Given the description of an element on the screen output the (x, y) to click on. 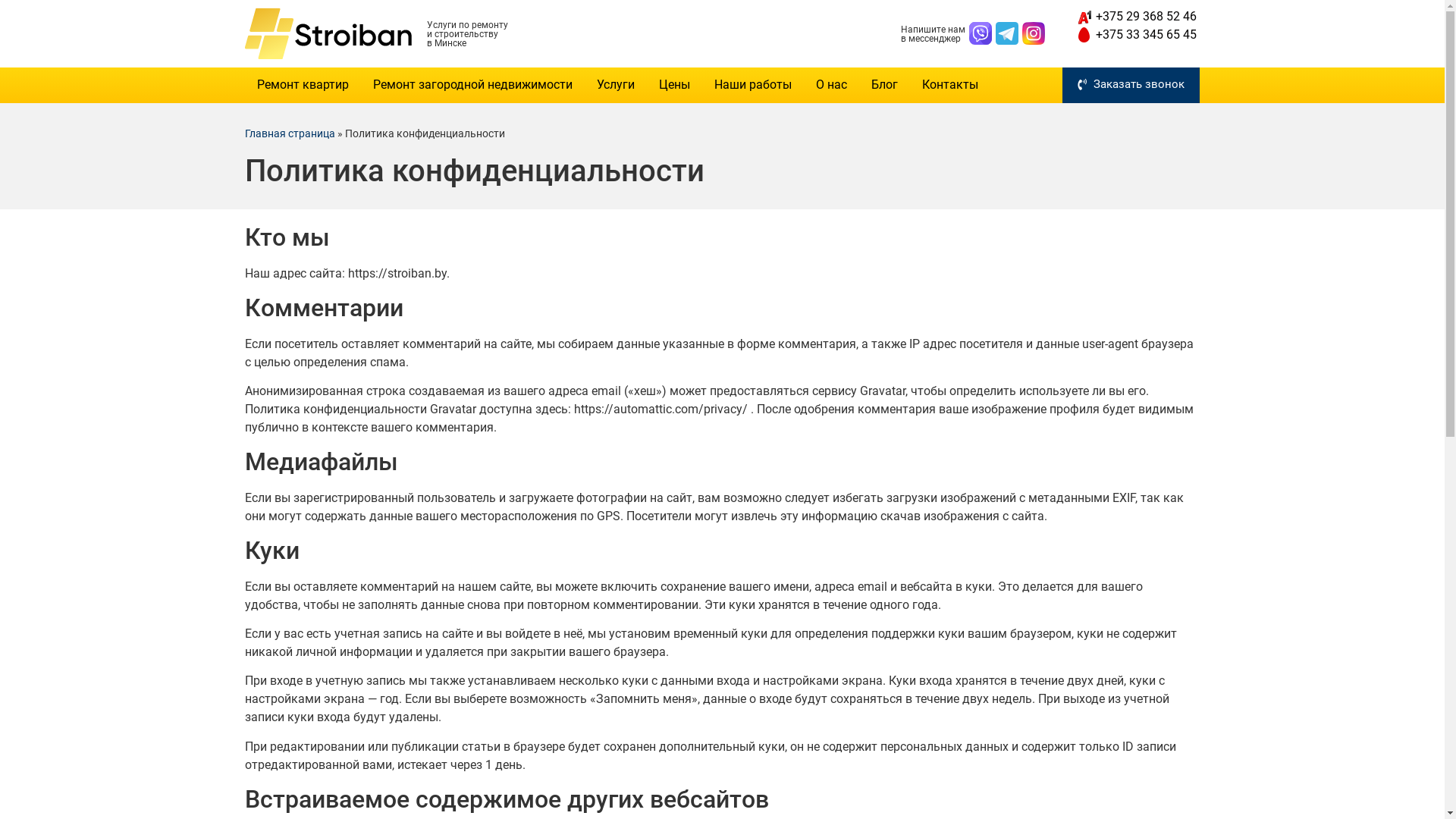
+375 33 345 65 45 Element type: text (1135, 34)
+375 29 368 52 46 Element type: text (1135, 16)
